Given the description of an element on the screen output the (x, y) to click on. 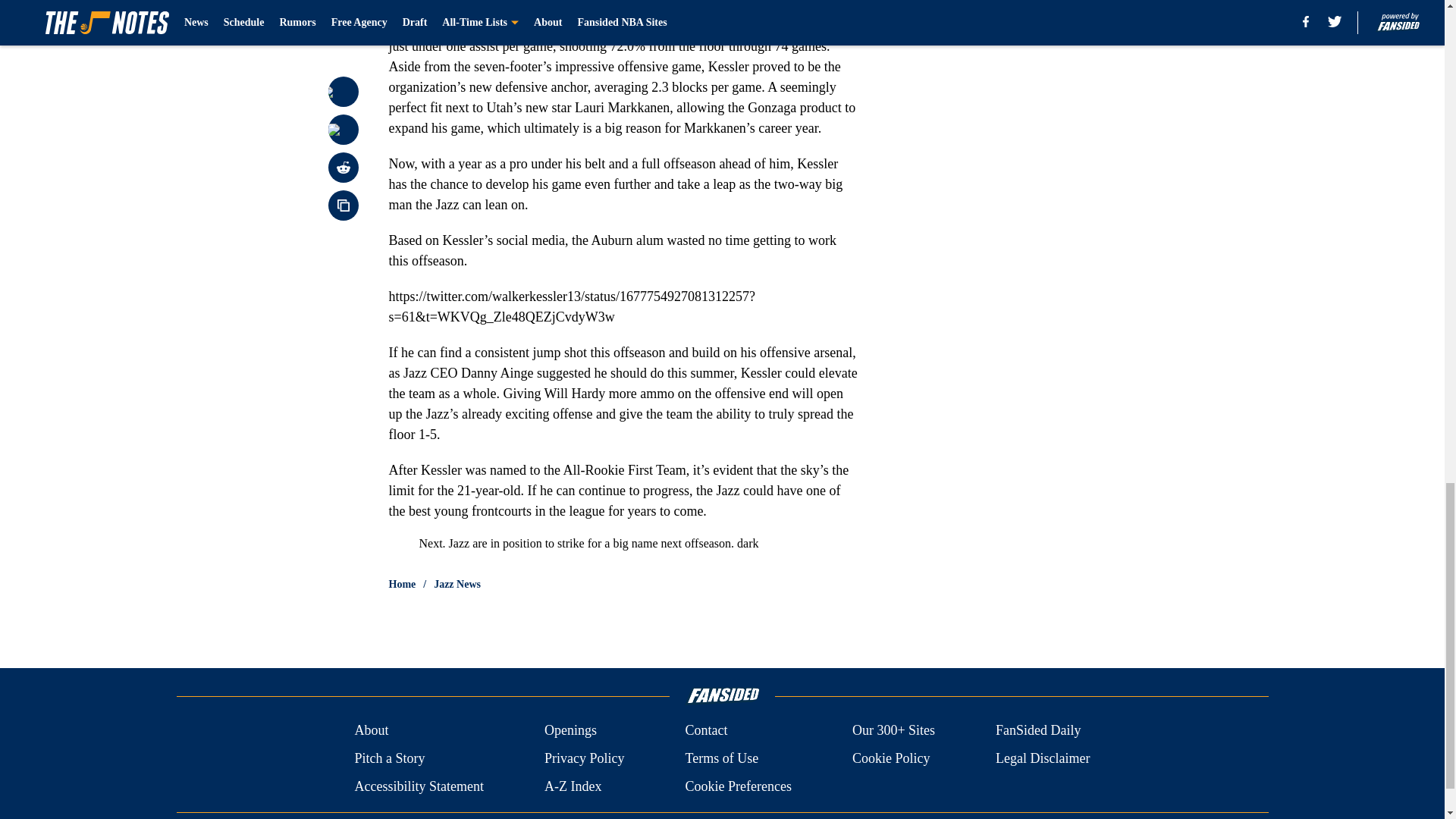
About (370, 730)
Pitch a Story (389, 758)
Privacy Policy (584, 758)
A-Z Index (572, 786)
Cookie Policy (890, 758)
FanSided Daily (1038, 730)
Jazz News (456, 584)
Cookie Preferences (737, 786)
Accessibility Statement (418, 786)
Contact (705, 730)
